Given the description of an element on the screen output the (x, y) to click on. 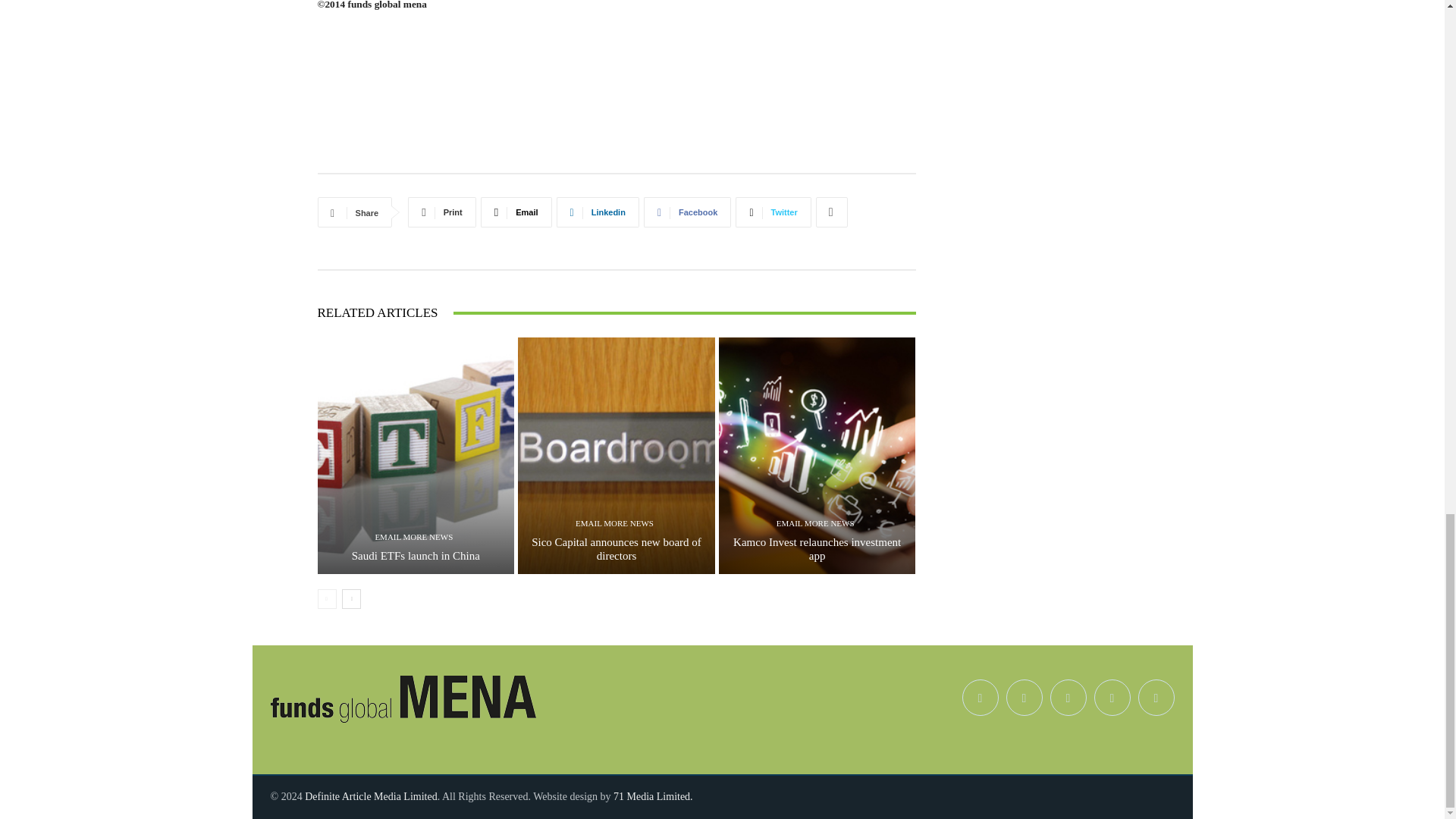
Linkedin (597, 212)
Print (441, 212)
3rd party ad content (616, 117)
Email (515, 212)
